Given the description of an element on the screen output the (x, y) to click on. 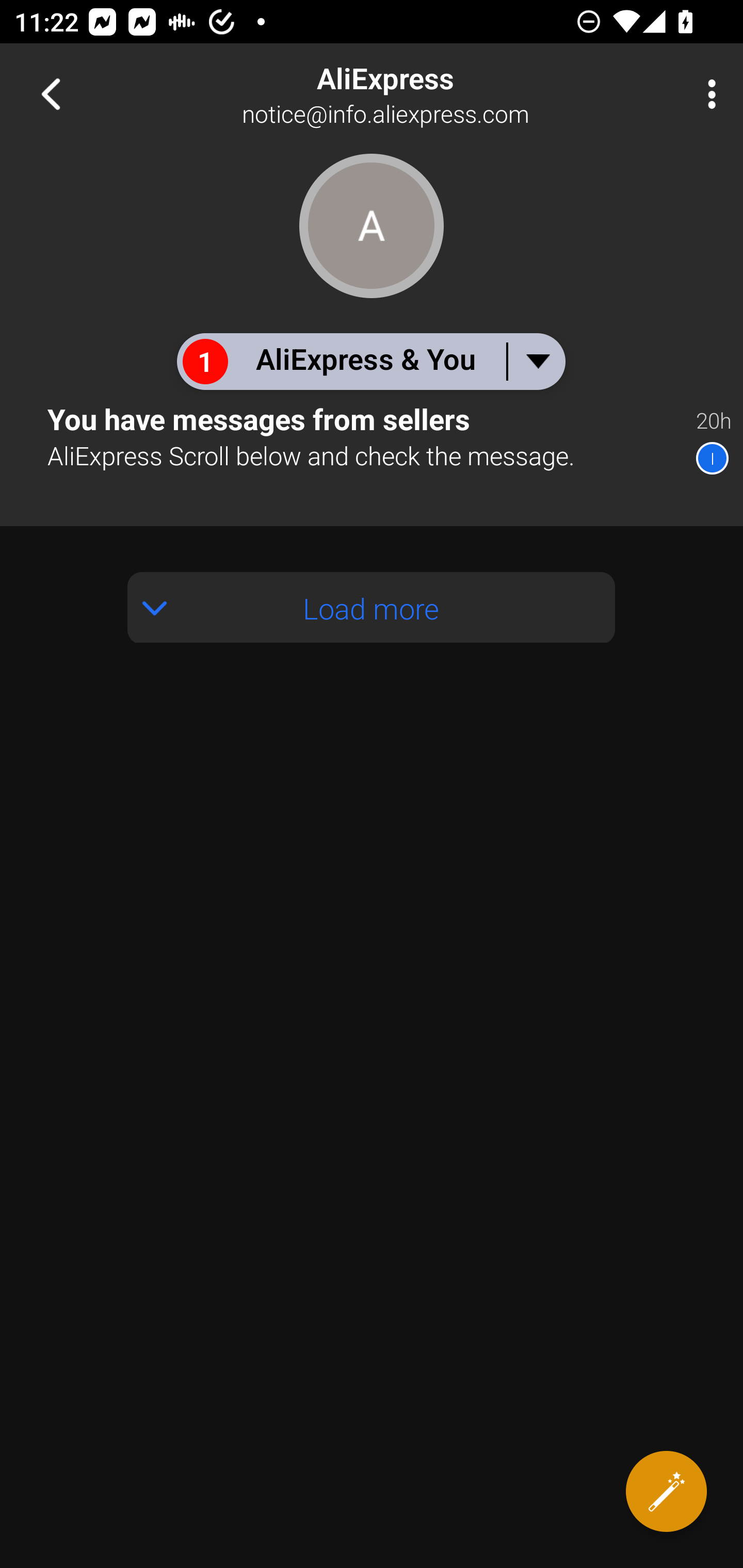
Navigate up (50, 93)
AliExpress notice@info.aliexpress.com (436, 93)
More Options (706, 93)
1 AliExpress & You (370, 361)
Load more (371, 607)
